Given the description of an element on the screen output the (x, y) to click on. 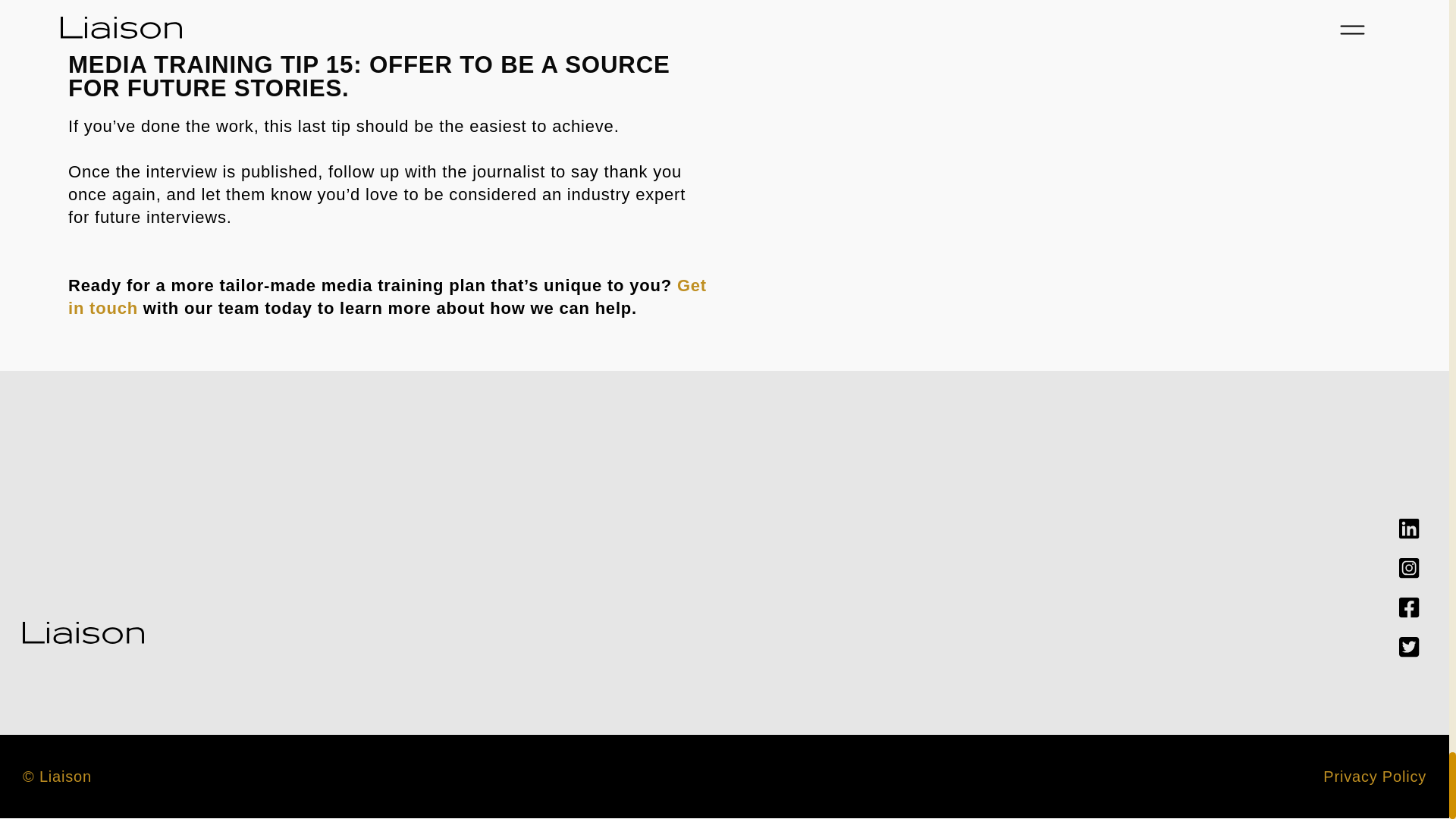
Get in touch (387, 296)
Privacy Policy (1374, 776)
